Given the description of an element on the screen output the (x, y) to click on. 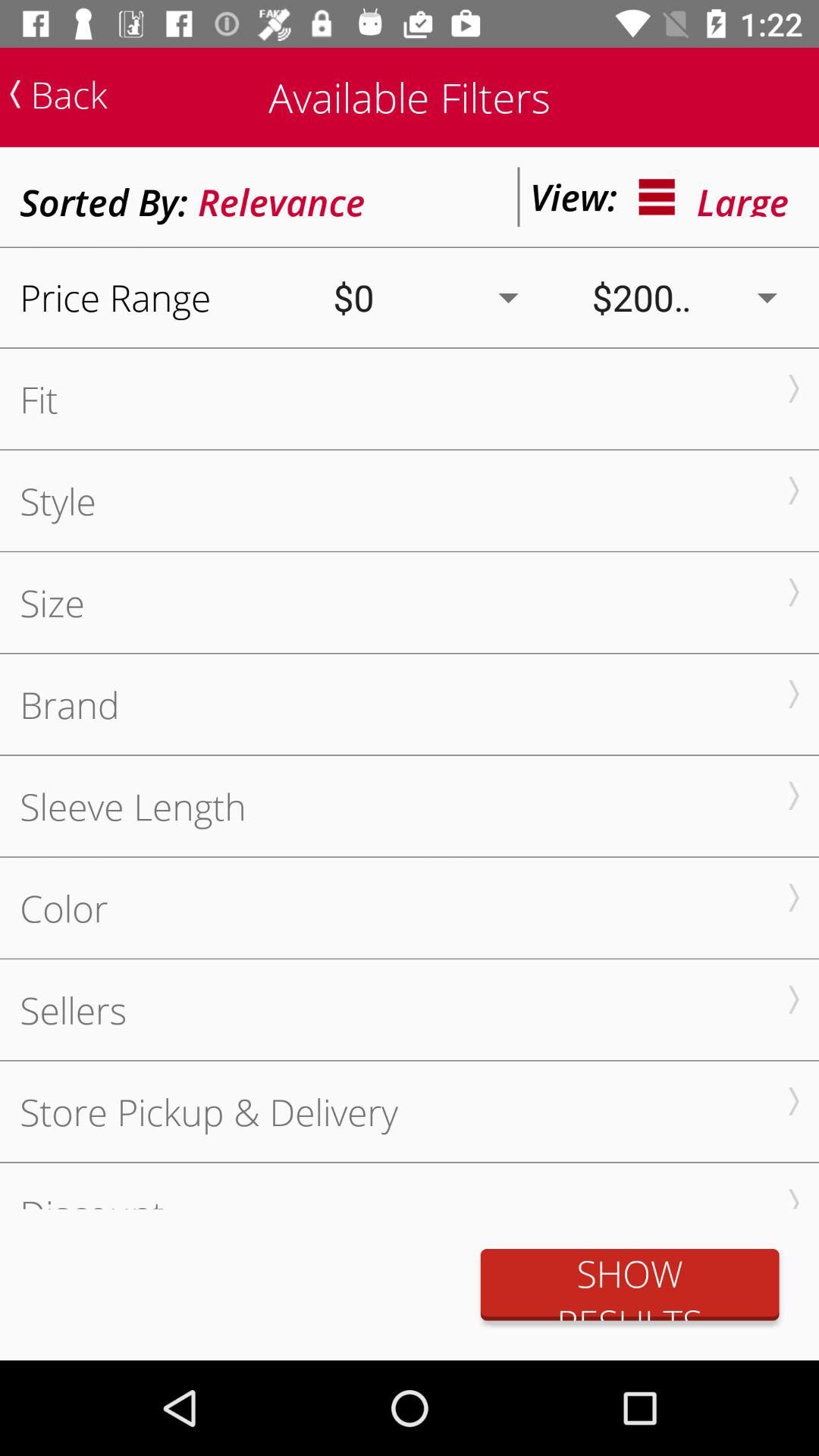
click the button on the right next to the button size on the web page (793, 592)
click the button on the right next to the sellers button on the web page (793, 999)
click the button on the right next to the text store pickup  delivery on the web page (793, 1101)
relevance (281, 197)
